Given the description of an element on the screen output the (x, y) to click on. 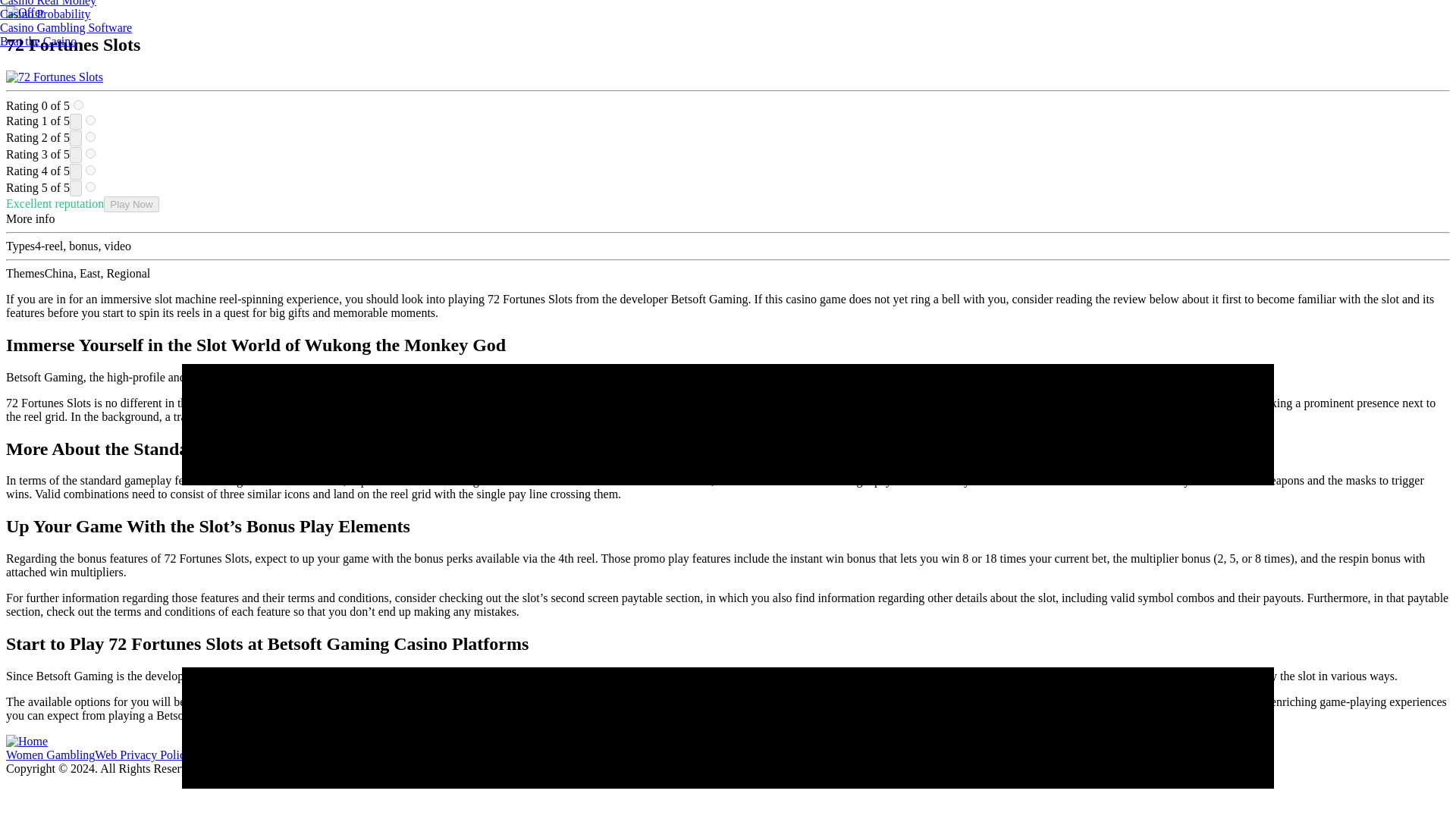
2 (90, 136)
Loyalty Program (489, 754)
Casino Jackpot (956, 754)
Games Based on Luck: Roulette, Slots and Keno (712, 754)
Legal Notice (562, 754)
Bonus Casino (1027, 754)
4 (90, 170)
Roulette Probability (239, 754)
Women Gambling (49, 754)
5 (90, 186)
Cheating Methods (875, 754)
0 (78, 104)
Web Privacy Policy (142, 754)
Play Now (130, 204)
3 (90, 153)
